Given the description of an element on the screen output the (x, y) to click on. 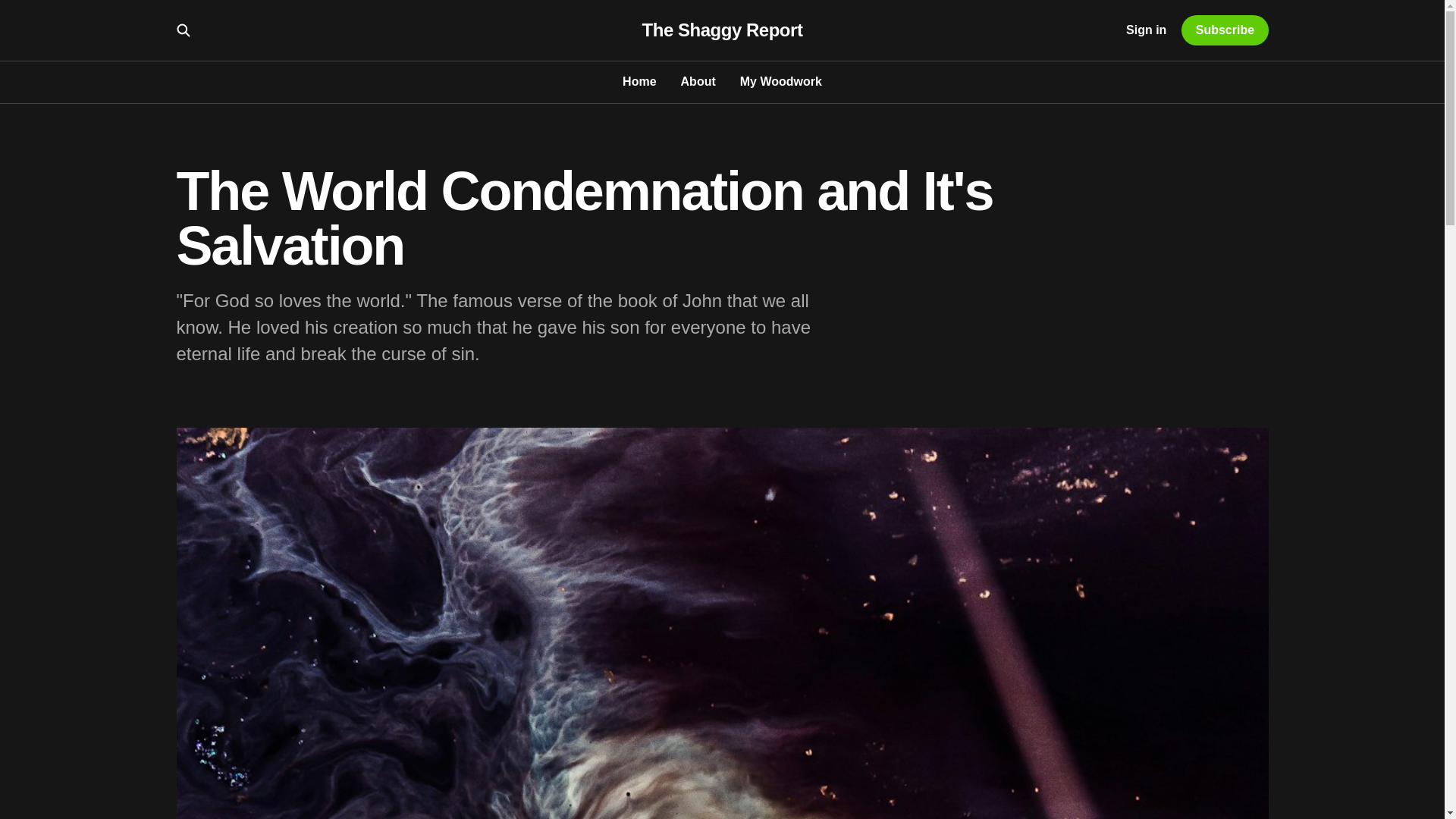
The Shaggy Report (722, 30)
My Woodwork (780, 81)
Subscribe (1224, 30)
About (698, 81)
Sign in (1145, 30)
Home (639, 81)
